Given the description of an element on the screen output the (x, y) to click on. 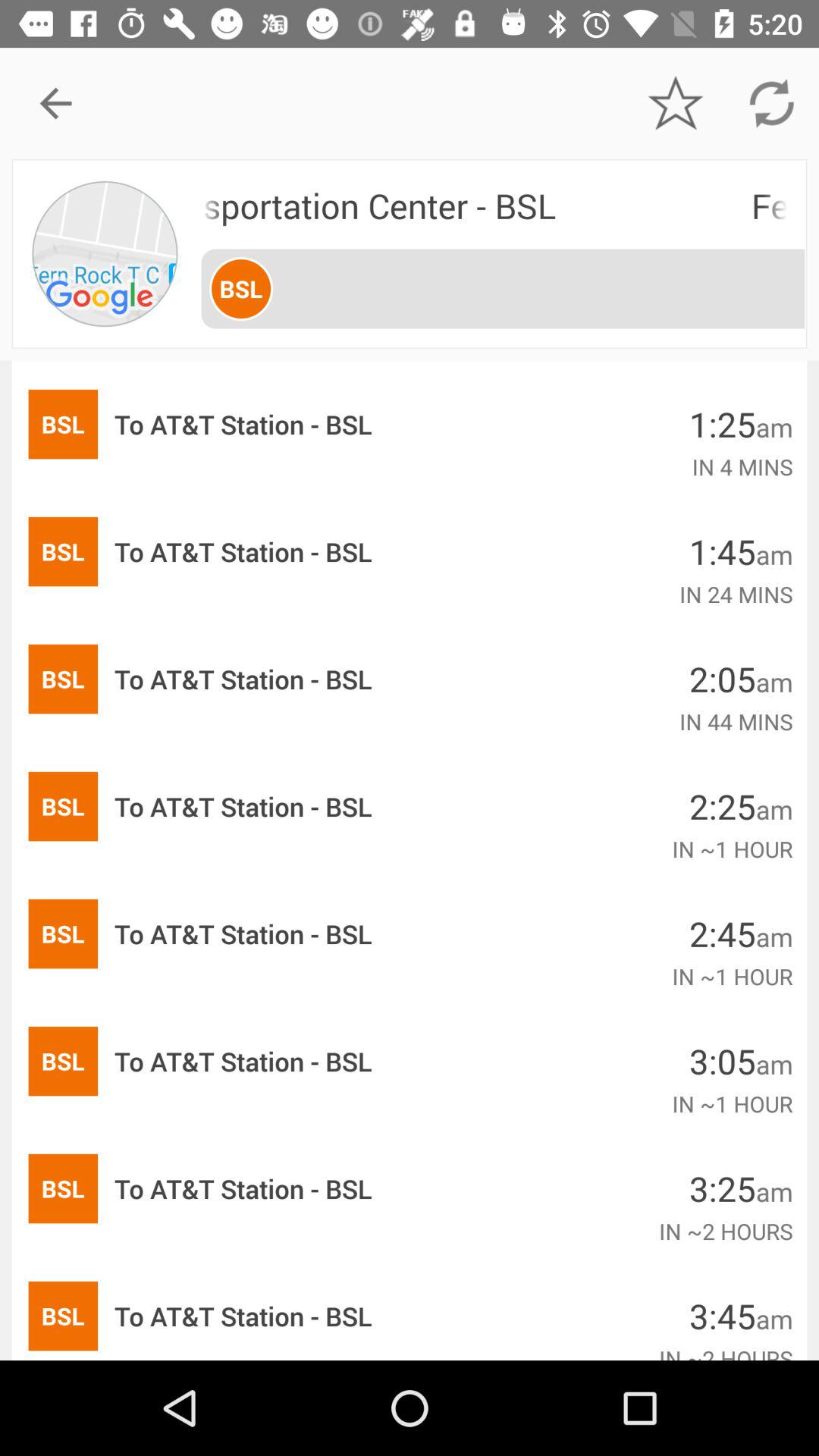
press the icon next to the fern rock transportation icon (106, 253)
